Given the description of an element on the screen output the (x, y) to click on. 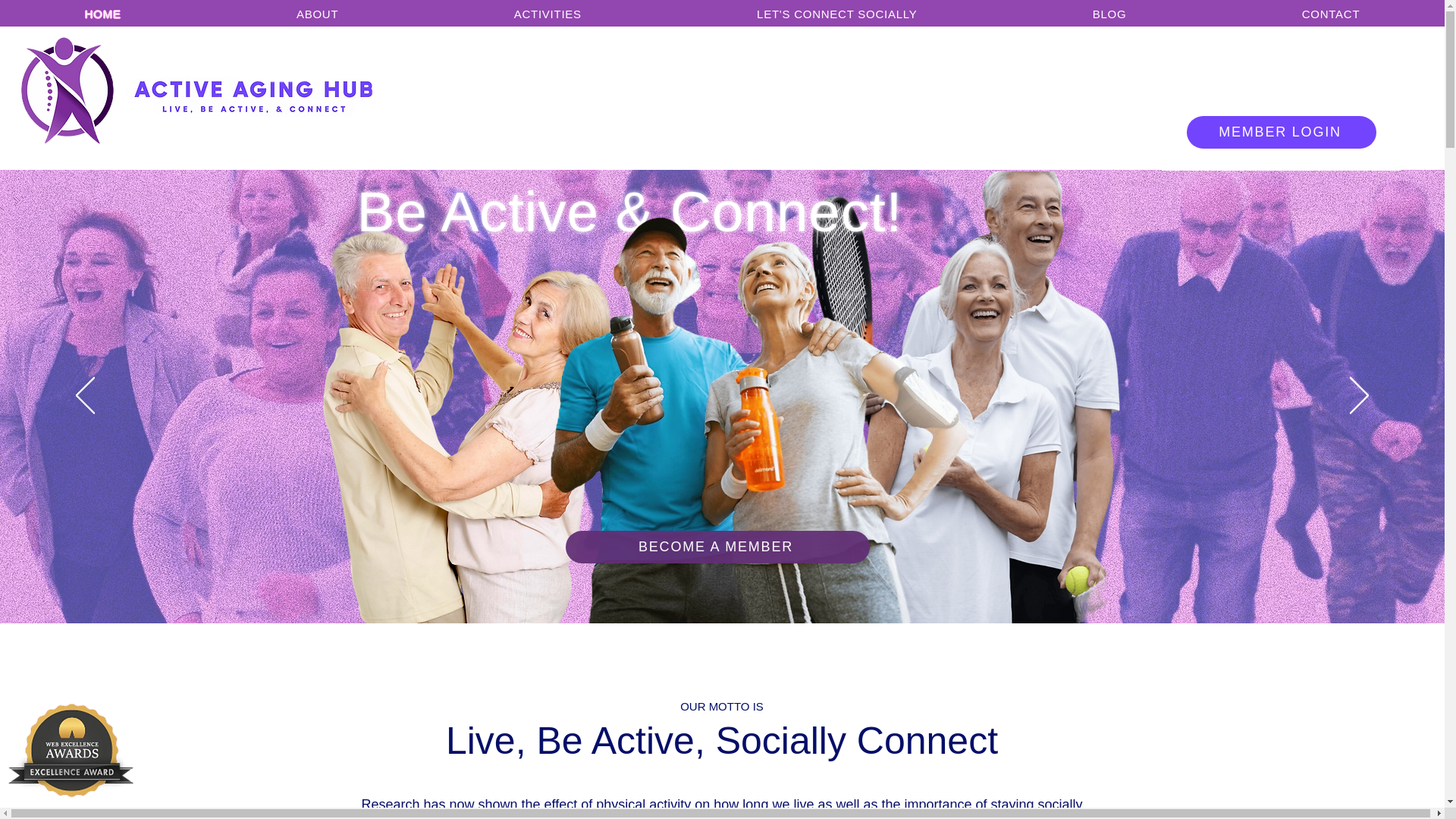
BLOG (1109, 13)
CONTACT (1330, 13)
LET'S CONNECT SOCIALLY (836, 13)
MEMBER LOGIN (1280, 132)
HOME (102, 13)
ABOUT (317, 13)
BECOME A MEMBER (717, 546)
